Given the description of an element on the screen output the (x, y) to click on. 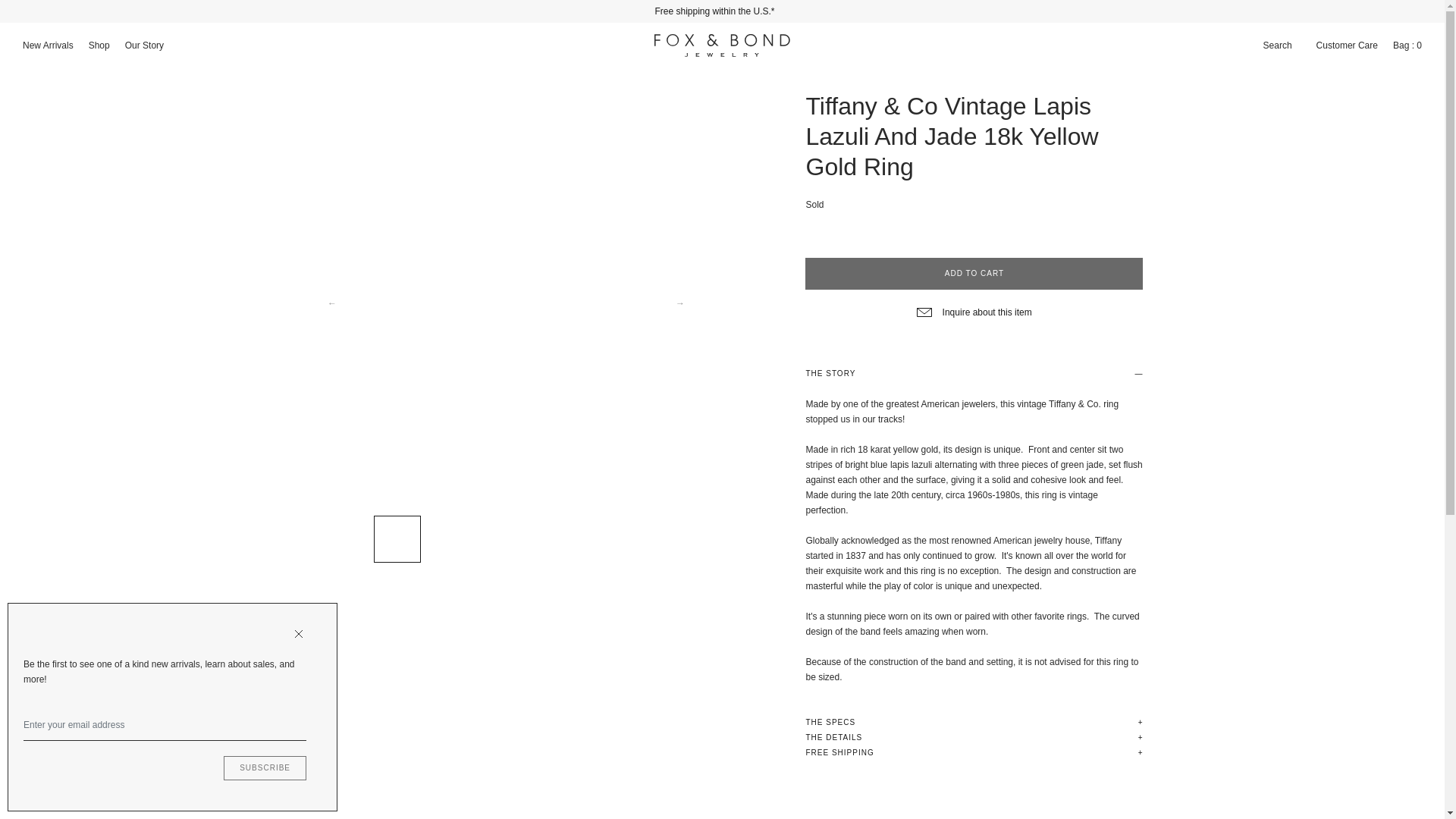
Bag : 0 (1407, 44)
New Arrivals (47, 44)
Customer Care (1347, 44)
Our Story (144, 44)
